Given the description of an element on the screen output the (x, y) to click on. 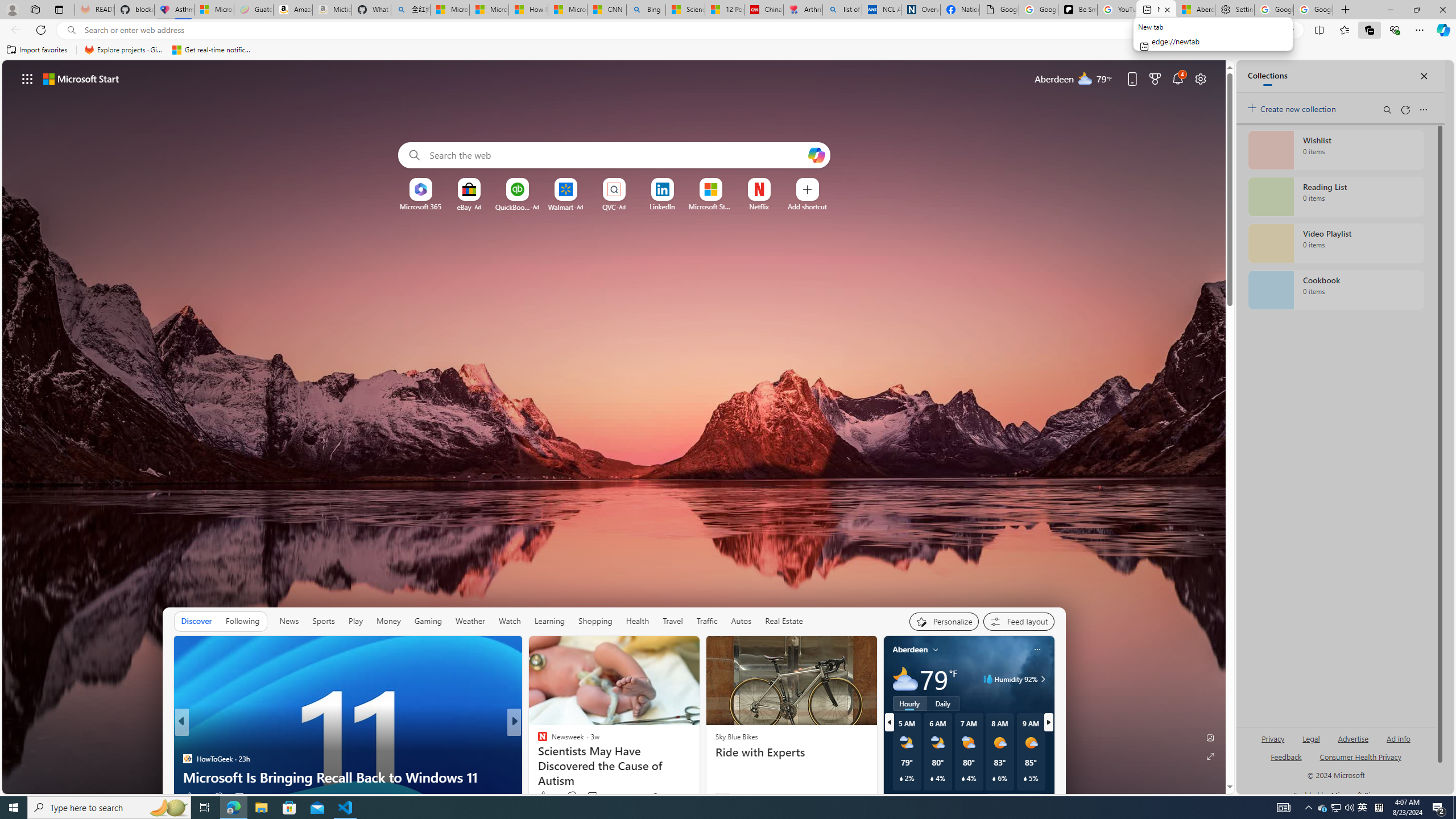
View comments 10 Comment (597, 796)
CNN - MSN (606, 9)
Sky Blue Bikes (736, 736)
Newsweek (537, 740)
Guatemalan Indicted Over Deaths of 53 Migrants in Texas (697, 767)
Earth (537, 740)
2k Like (546, 795)
Feed settings (1018, 621)
App launcher (27, 78)
